Given the description of an element on the screen output the (x, y) to click on. 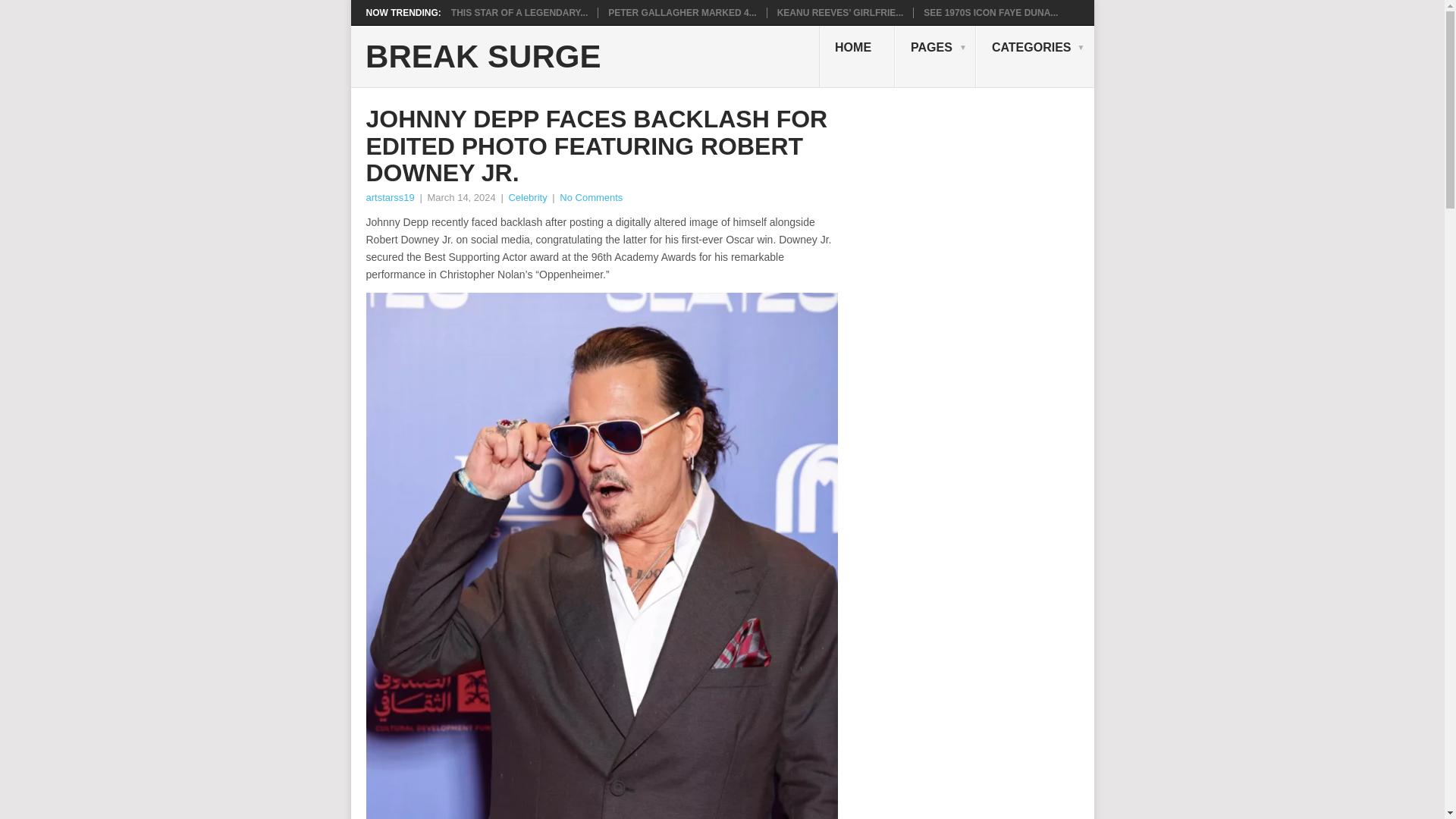
THIS STAR OF A LEGENDARY... (519, 12)
HOME (856, 56)
See 1970s icon Faye Dunaway now at 83 (990, 12)
SEE 1970S ICON FAYE DUNA... (990, 12)
Celebrity (527, 197)
PAGES (935, 56)
artstarss19 (389, 197)
BREAK SURGE (482, 56)
No Comments (591, 197)
PETER GALLAGHER MARKED 4... (681, 12)
Posts by artstarss19 (389, 197)
CATEGORIES (1034, 56)
